Given the description of an element on the screen output the (x, y) to click on. 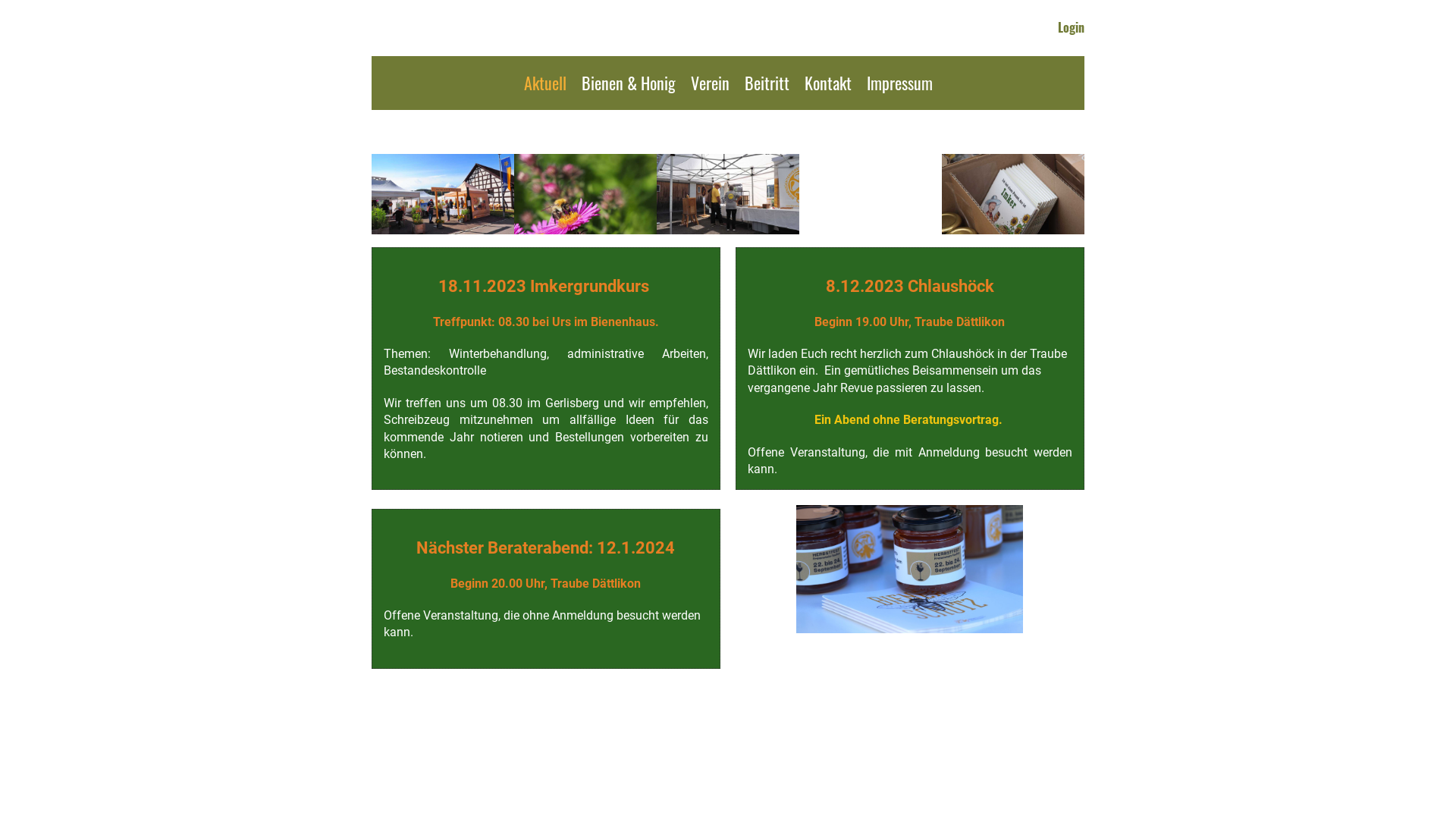
Aktuell Element type: text (544, 82)
Beitritt Element type: text (767, 82)
Impressum Element type: text (898, 82)
Verein Element type: text (709, 82)
Kontakt Element type: text (827, 82)
Login Element type: text (1070, 27)
Bienen & Honig Element type: text (627, 82)
